Given the description of an element on the screen output the (x, y) to click on. 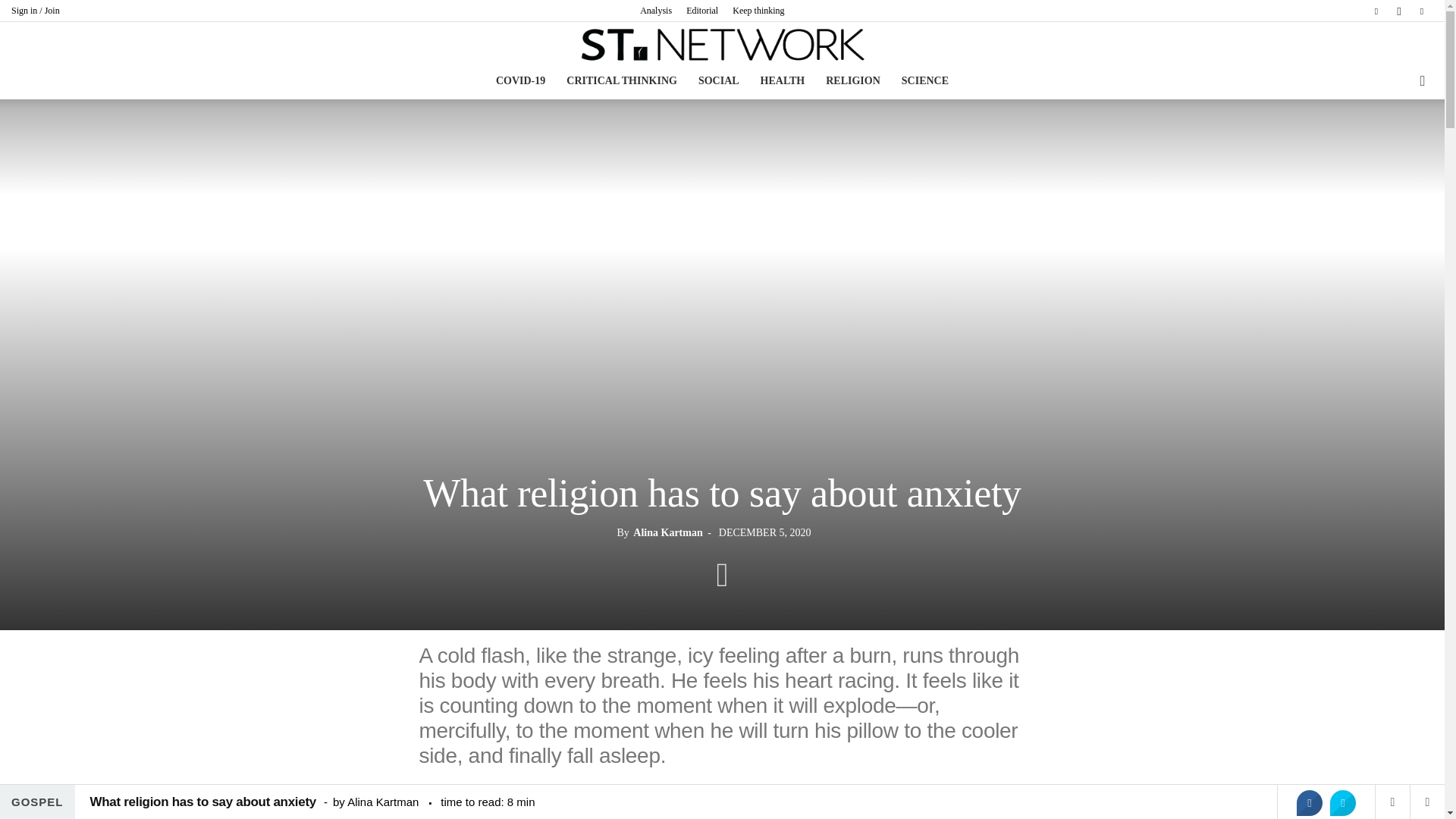
Editorial (701, 9)
Twitter (1421, 10)
Instagram (1398, 10)
Facebook (1376, 10)
Christian Analysis and Opinion (721, 44)
Keep thinking (758, 9)
Analysis (655, 9)
